Given the description of an element on the screen output the (x, y) to click on. 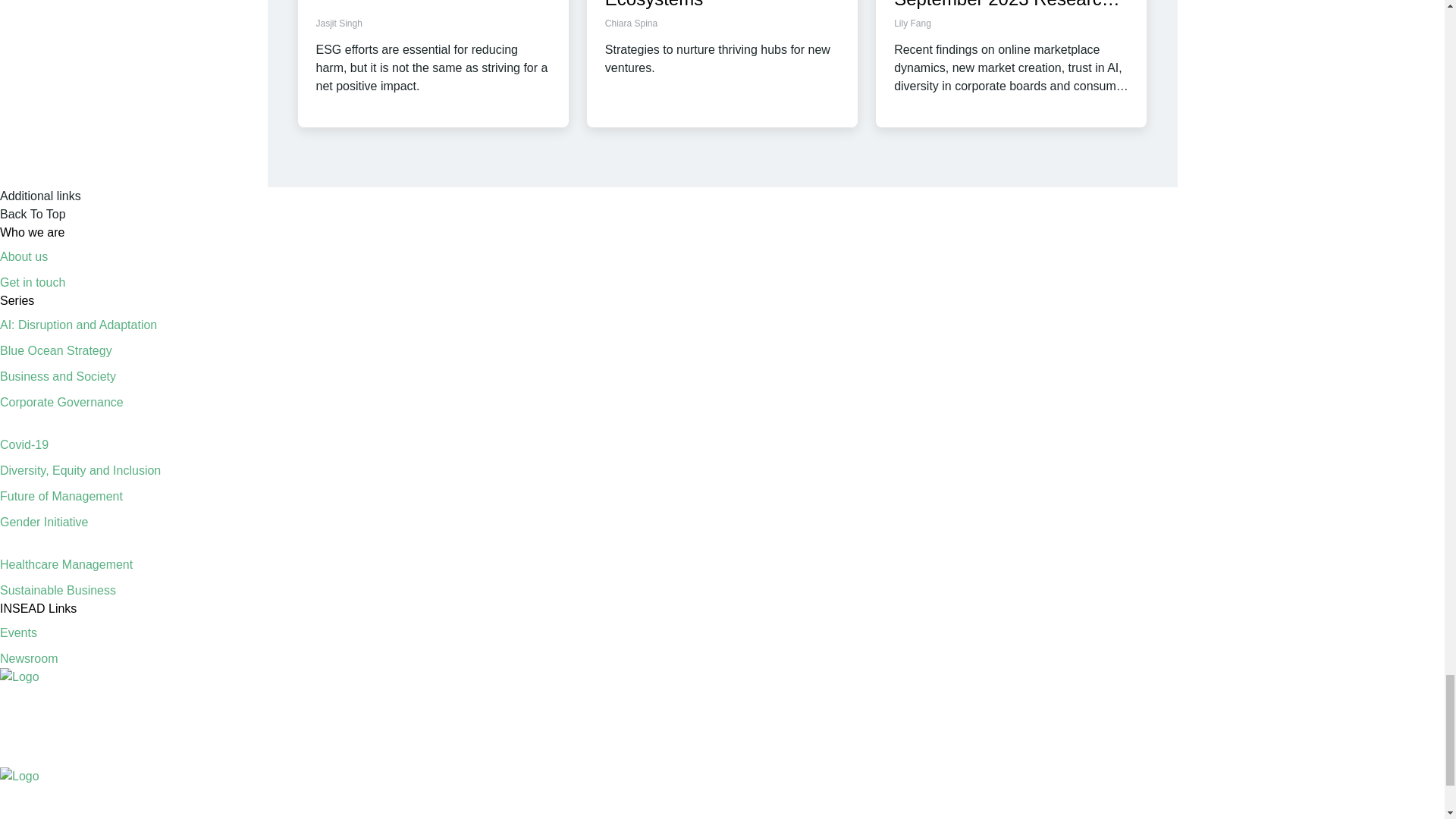
Podcasts (1382, 749)
Youtube (1338, 749)
E-Mail (1427, 749)
LinkedIn (1203, 749)
Facebook (1248, 749)
RSS (1158, 749)
Twitter (1293, 749)
